Given the description of an element on the screen output the (x, y) to click on. 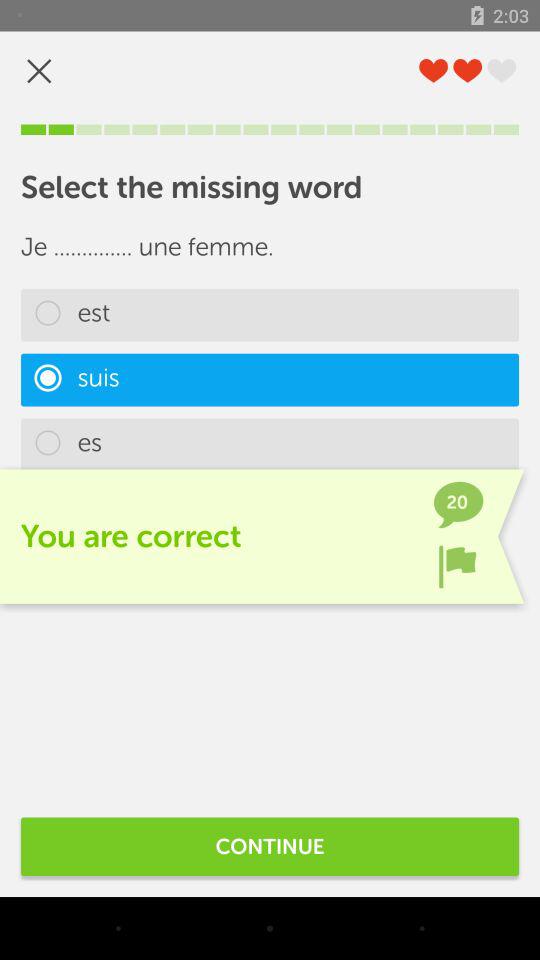
close out (39, 70)
